Given the description of an element on the screen output the (x, y) to click on. 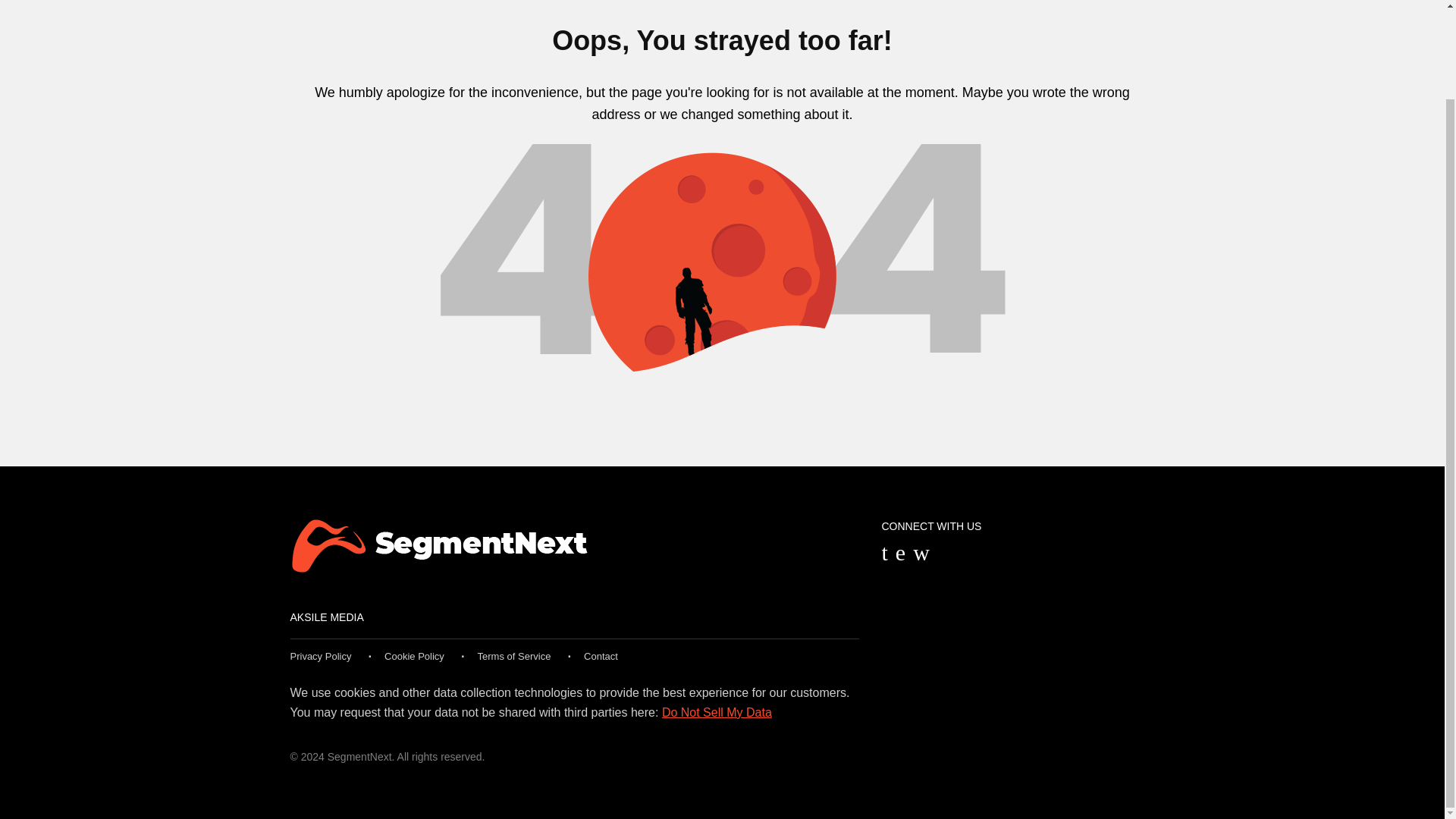
Do Not Sell My Data (716, 712)
Contact (600, 655)
Cookie Policy (414, 655)
Terms of Service (514, 655)
Privacy Policy (319, 655)
